Given the description of an element on the screen output the (x, y) to click on. 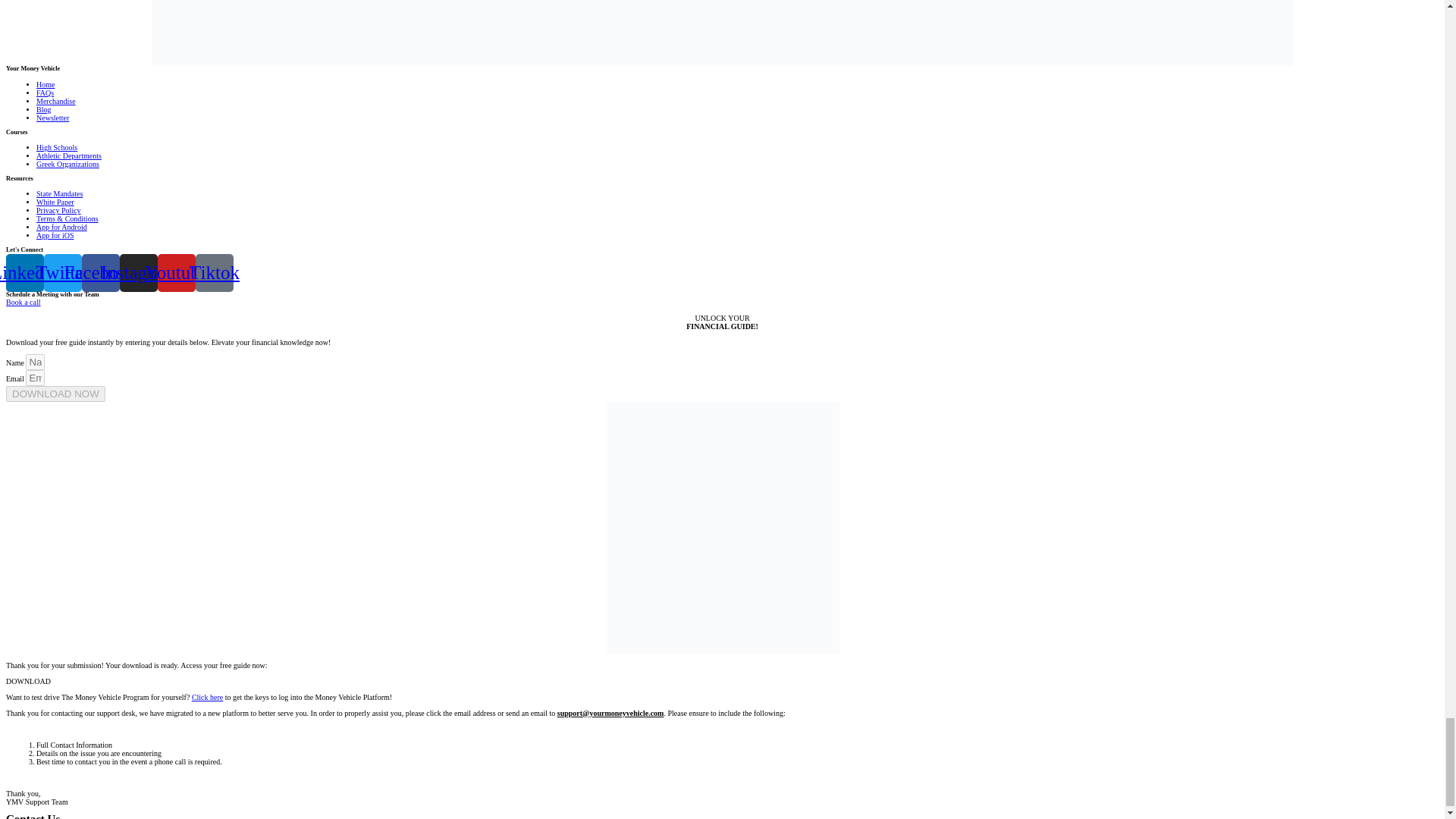
JumpStart-NationalPartnerEmblemTM2 (721, 33)
